Given the description of an element on the screen output the (x, y) to click on. 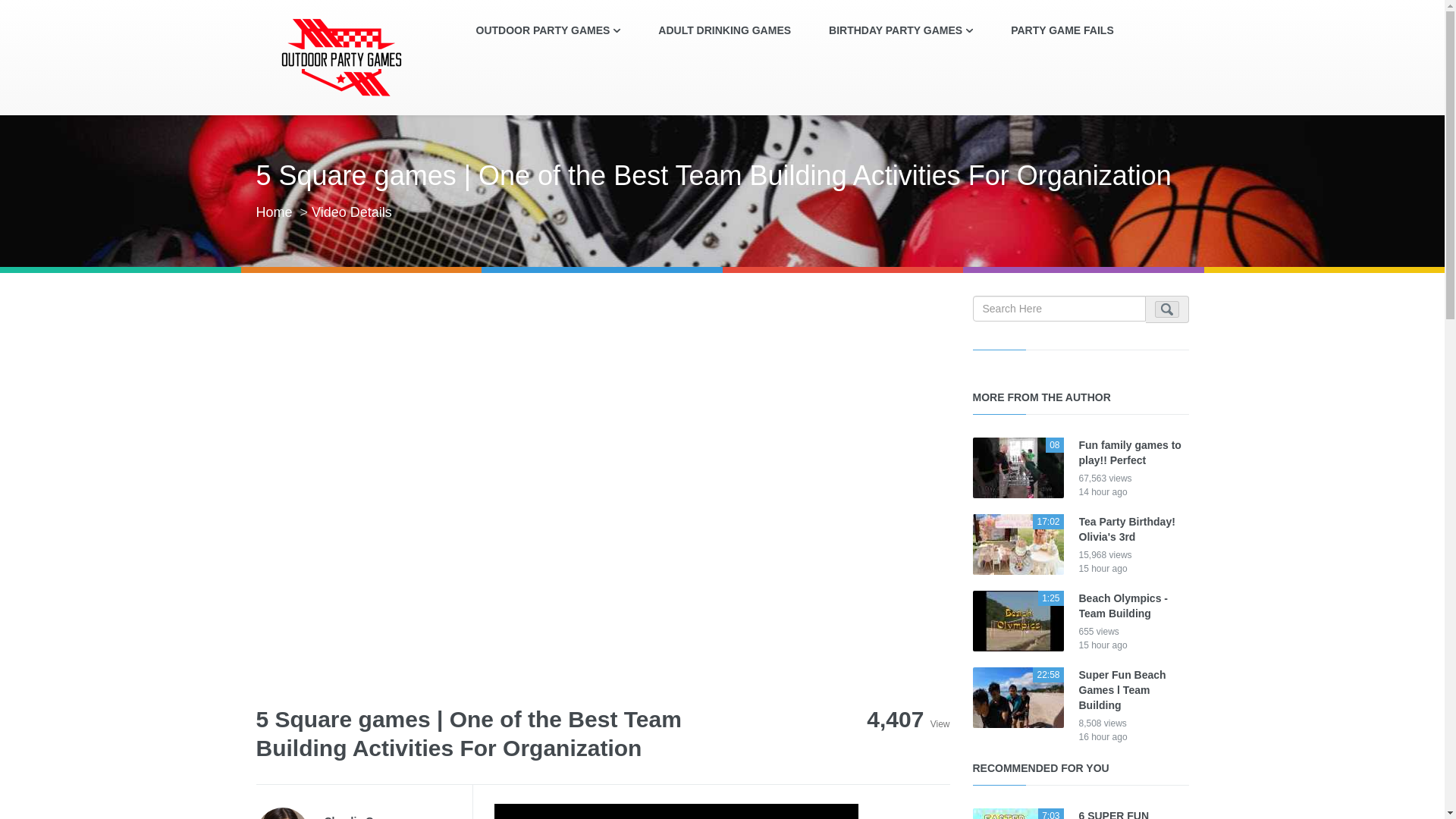
Home (274, 212)
OUTDOOR PARTY GAMES (548, 30)
Claudia Garza (397, 816)
ADULT DRINKING GAMES (724, 30)
PARTY GAME FAILS (1061, 30)
BIRTHDAY PARTY GAMES (900, 30)
